Given the description of an element on the screen output the (x, y) to click on. 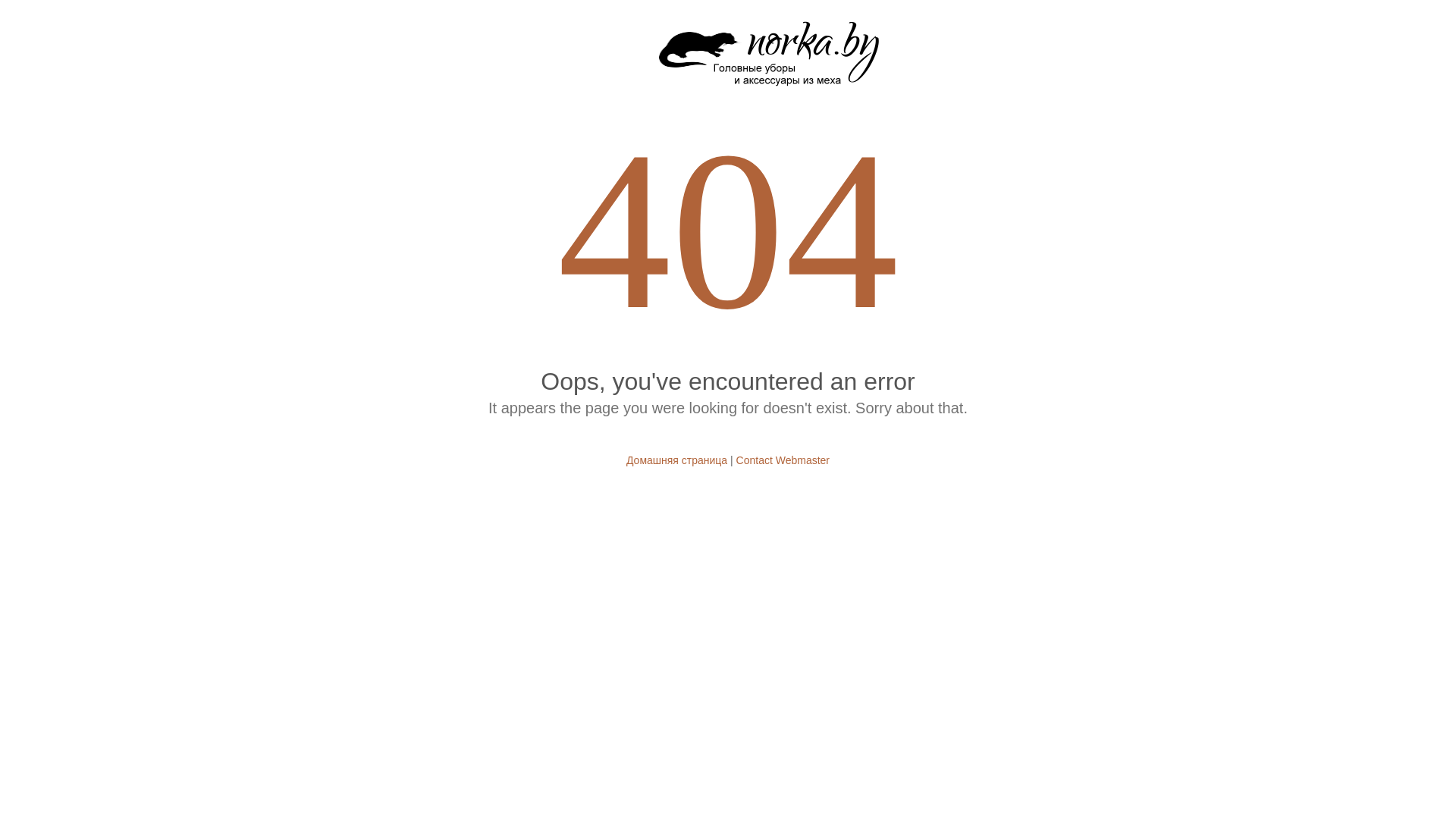
Contact Webmaster Element type: text (782, 460)
